Given the description of an element on the screen output the (x, y) to click on. 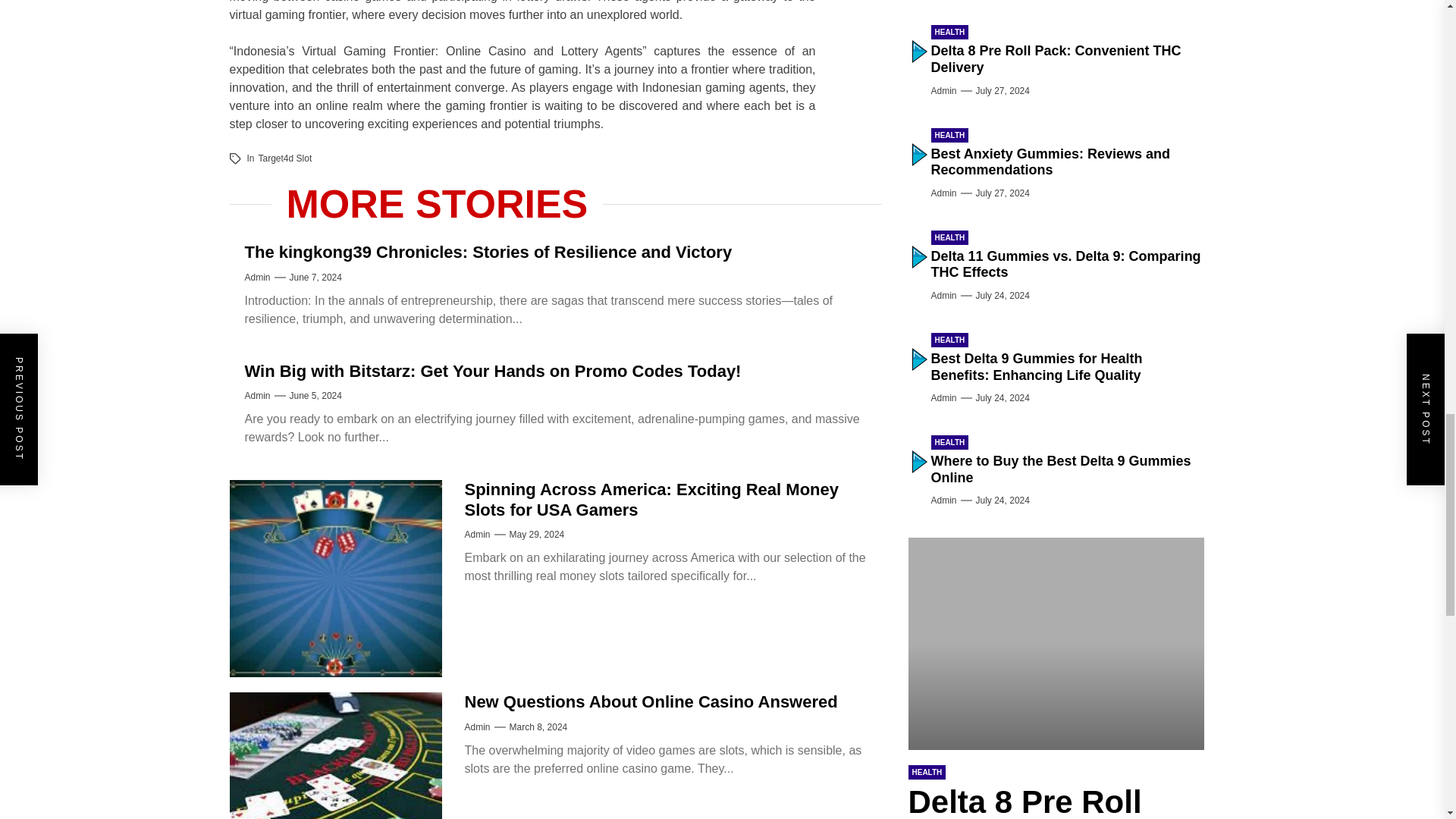
Target4d Slot (286, 158)
